Given the description of an element on the screen output the (x, y) to click on. 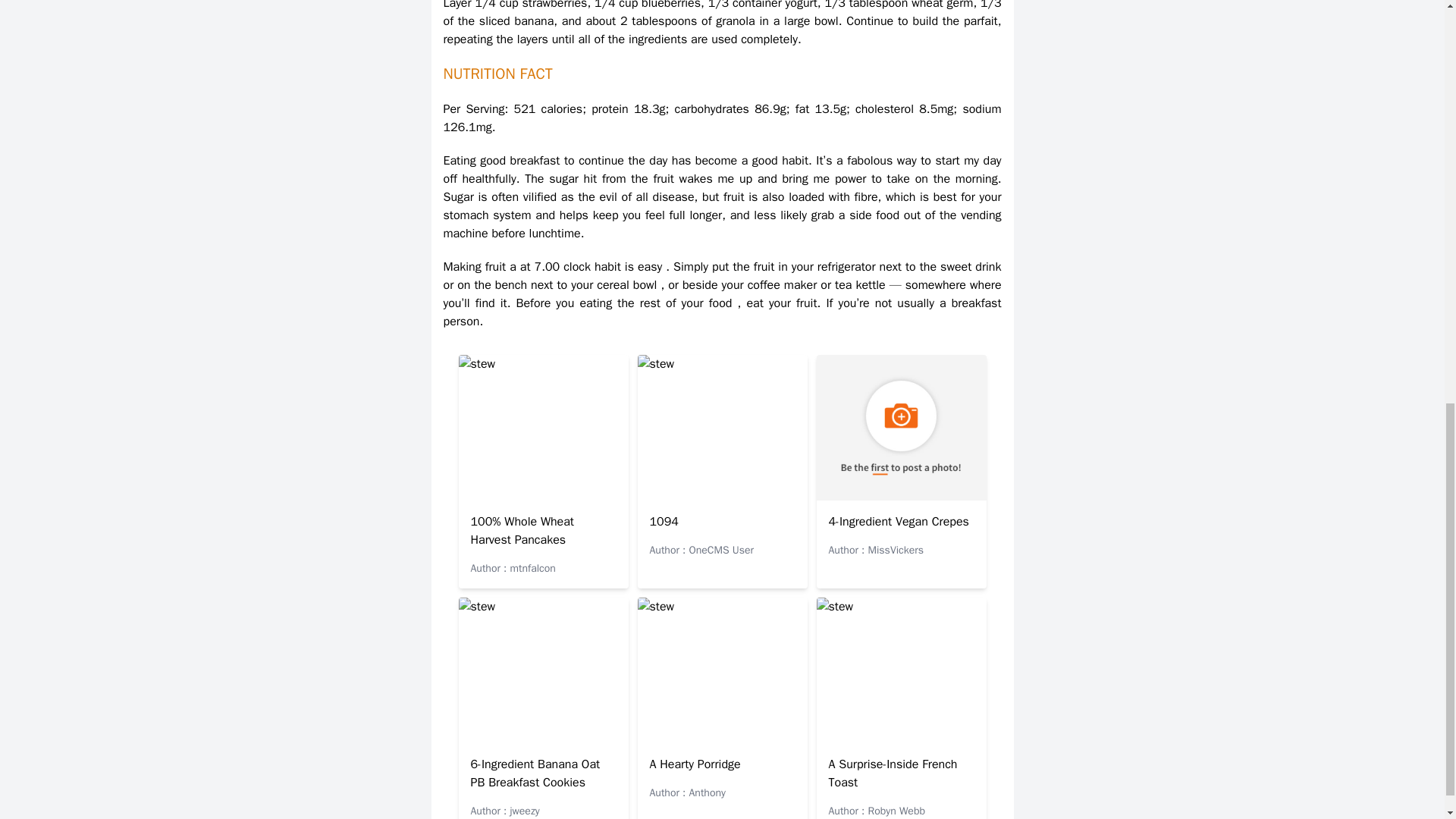
A Hearty Porridge (694, 764)
1094 (663, 521)
6-Ingredient Banana Oat PB Breakfast Cookies (534, 773)
A Surprise-Inside French Toast (892, 773)
4-Ingredient Vegan Crepes (898, 521)
